Given the description of an element on the screen output the (x, y) to click on. 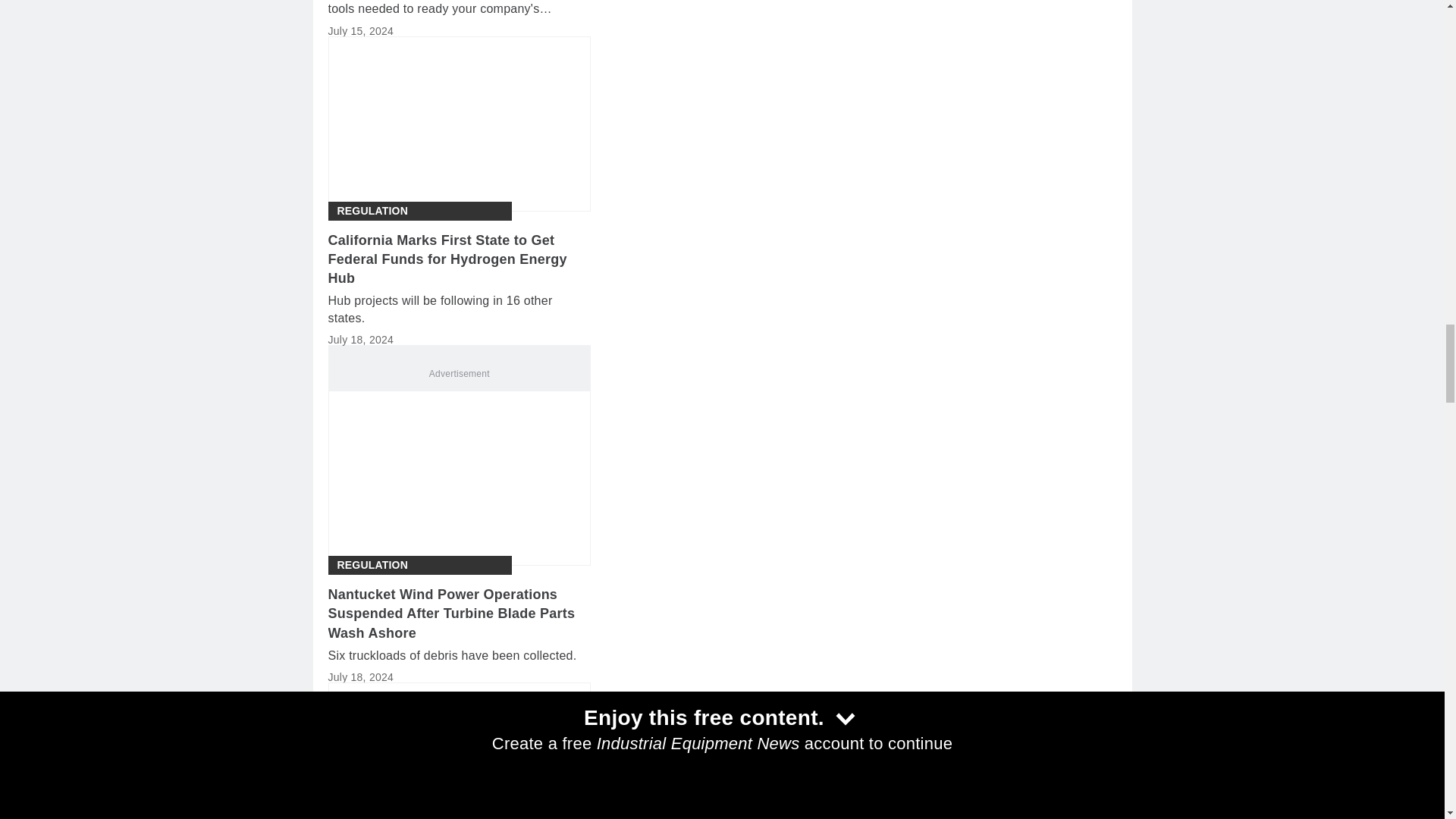
Regulation (371, 211)
